Given the description of an element on the screen output the (x, y) to click on. 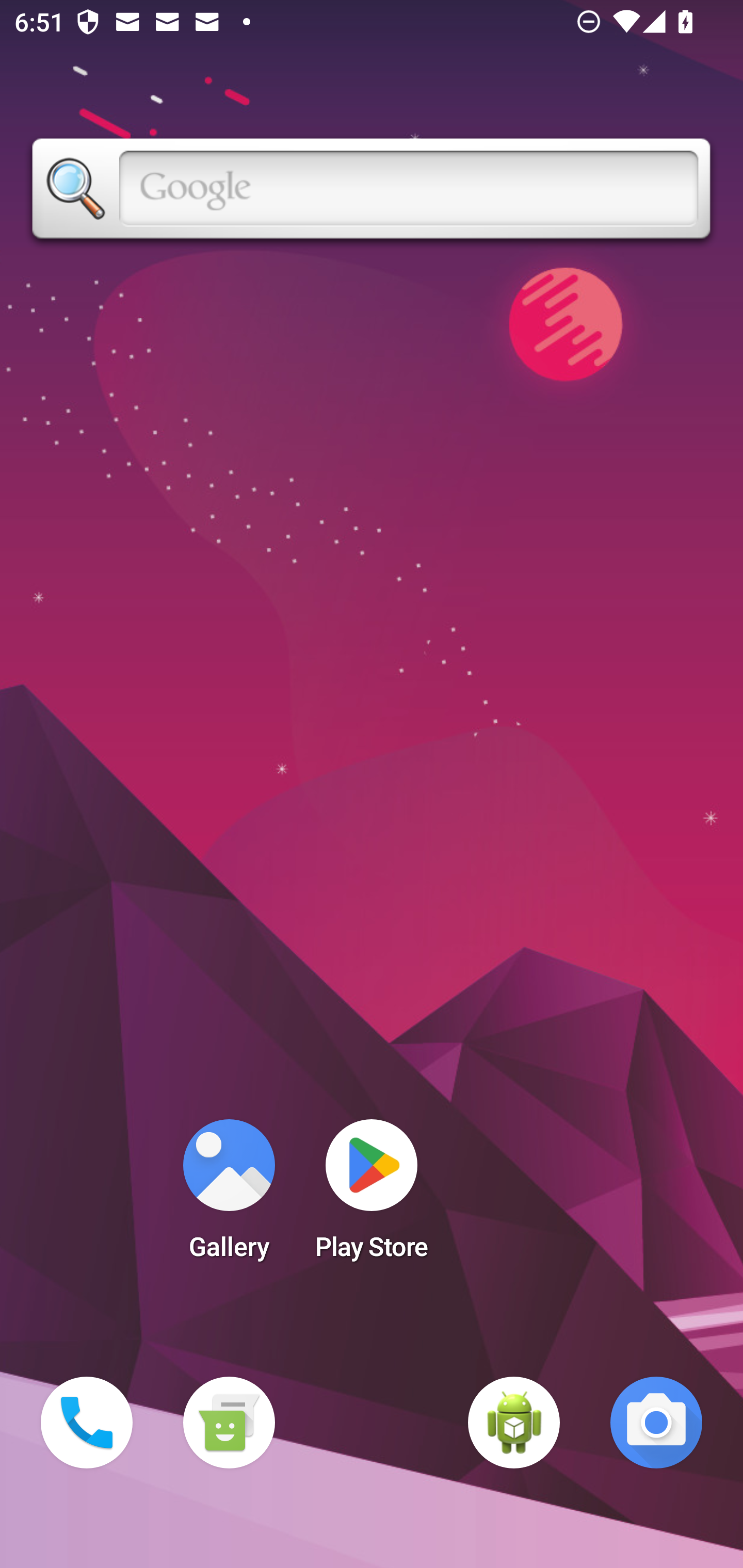
Gallery (228, 1195)
Play Store (371, 1195)
Phone (86, 1422)
Messaging (228, 1422)
WebView Browser Tester (513, 1422)
Camera (656, 1422)
